Given the description of an element on the screen output the (x, y) to click on. 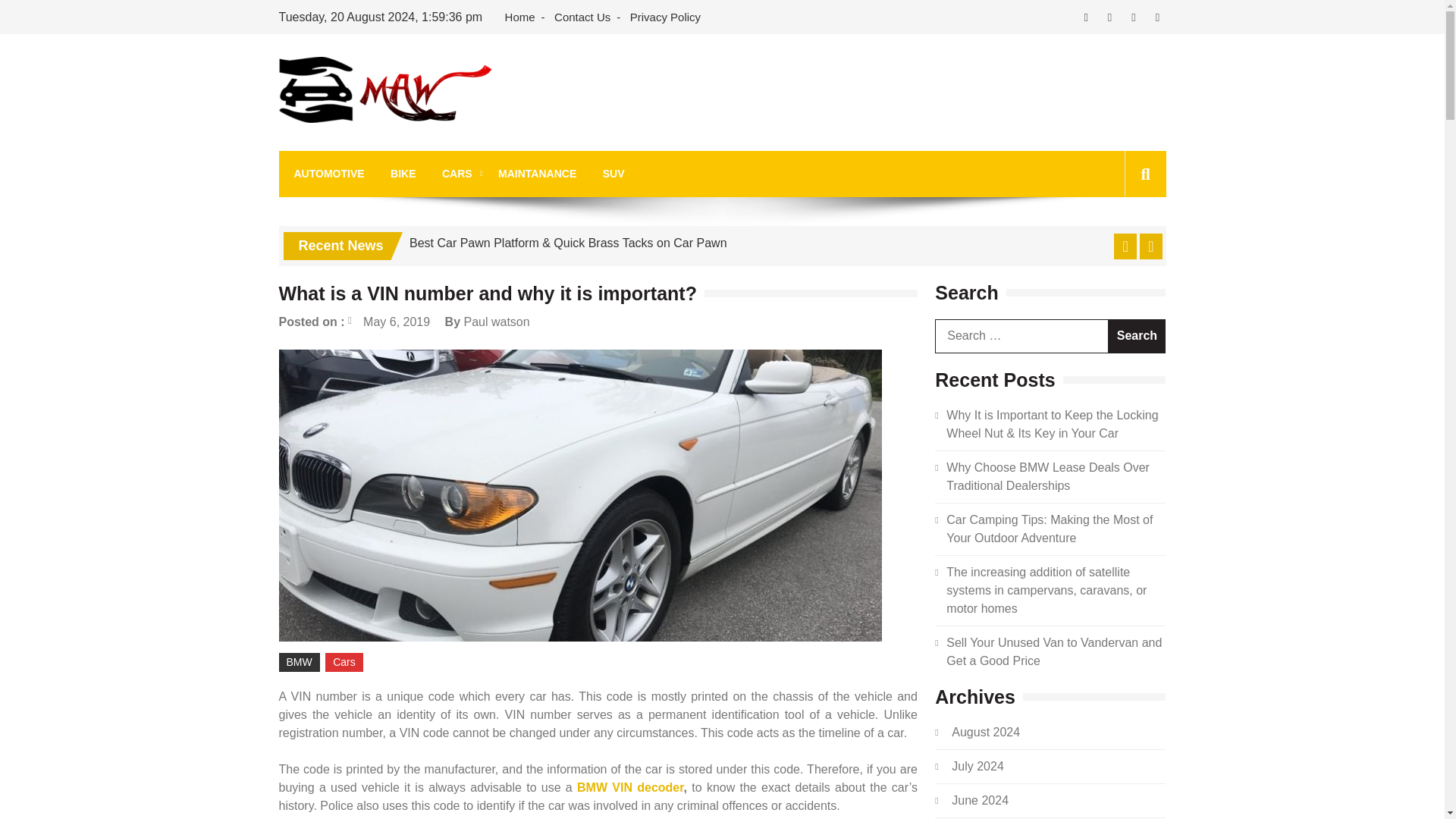
Search (1120, 242)
Paul watson (496, 321)
Contact Us (581, 17)
Search (1137, 335)
Search (1137, 335)
BMW (299, 661)
Why Choose BMW Lease Deals Over Traditional Dealerships (1048, 476)
Cars (343, 661)
AUTOMOTIVE (329, 173)
May 6, 2019 (388, 321)
